Given the description of an element on the screen output the (x, y) to click on. 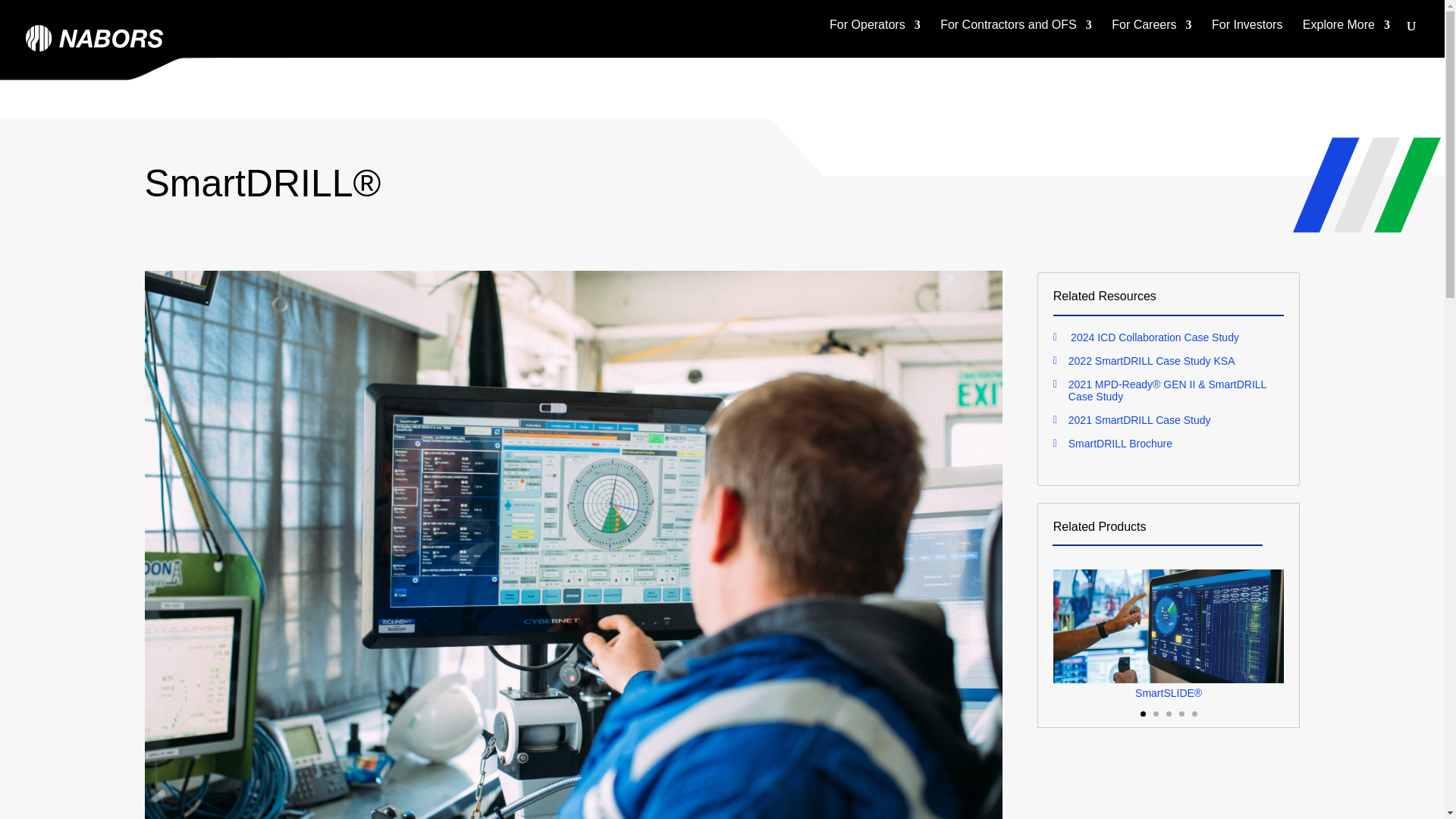
For Operators (874, 34)
